Given the description of an element on the screen output the (x, y) to click on. 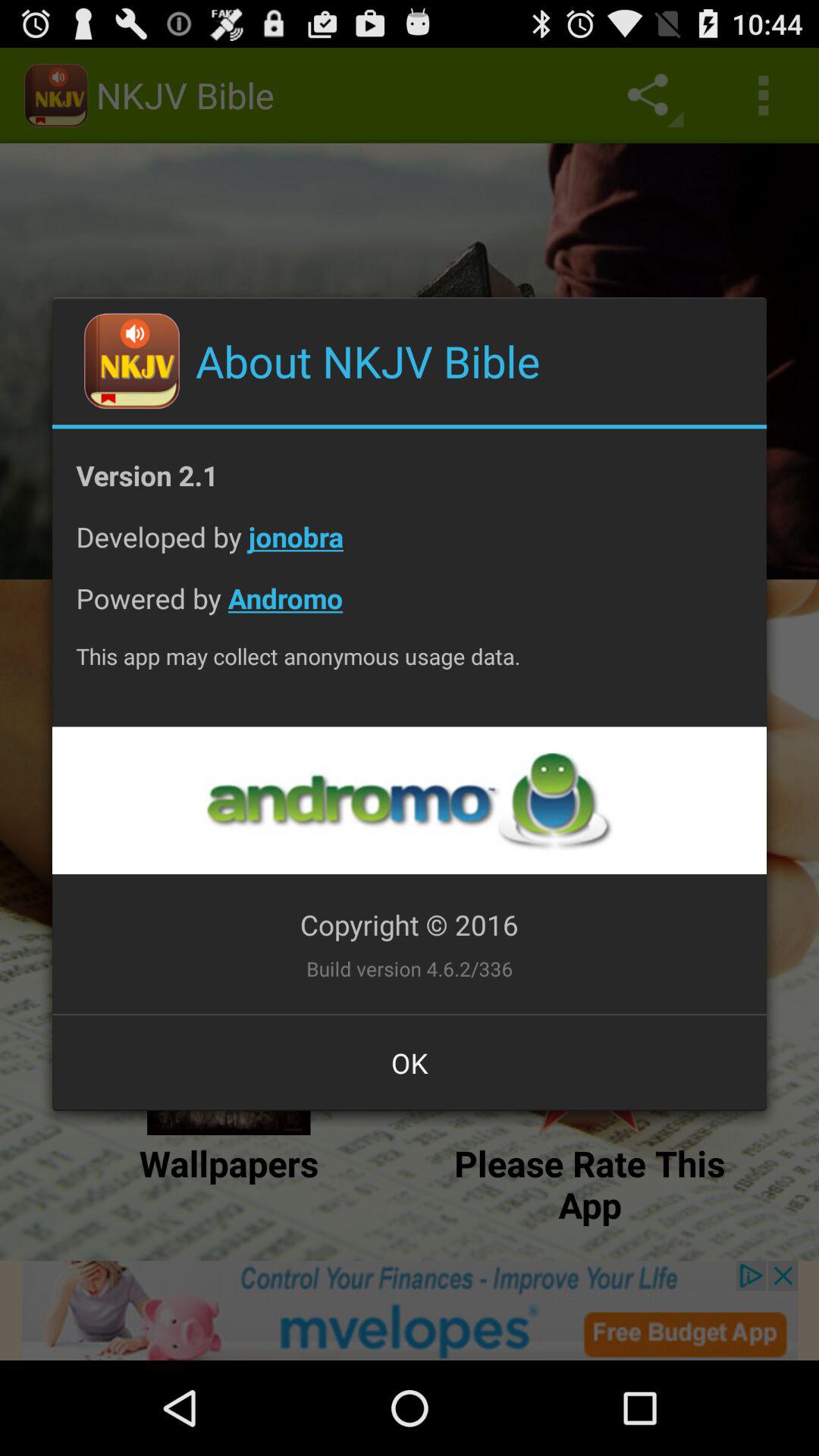
launch app below the version 2.1 icon (409, 548)
